Given the description of an element on the screen output the (x, y) to click on. 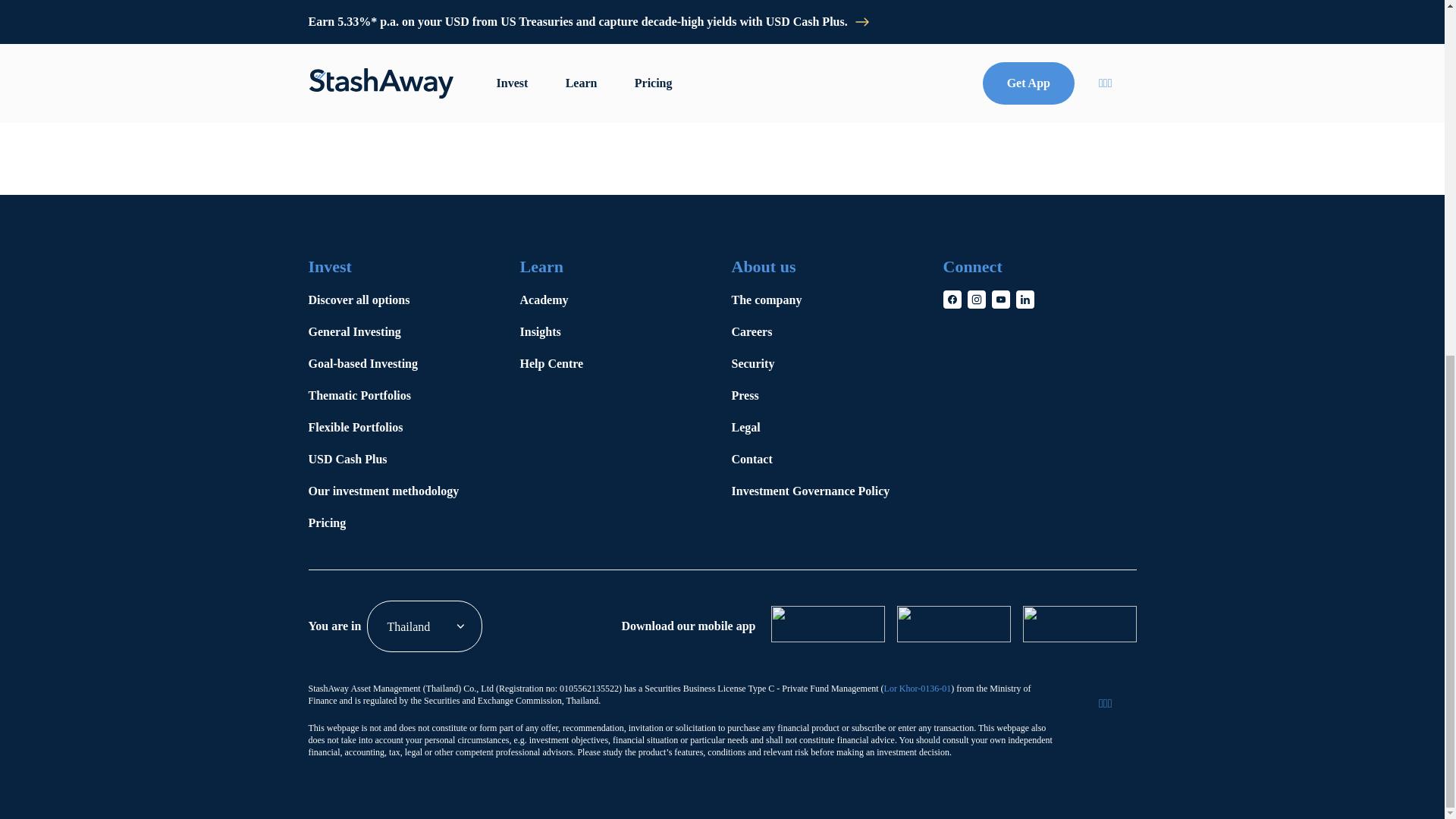
The company (824, 300)
Pricing (400, 522)
Press (824, 395)
USD Cash Plus (400, 459)
Discover all options (400, 300)
General Investing (400, 332)
Flexible Portfolios (400, 427)
Contact (824, 459)
Legal (824, 427)
Security (824, 364)
Help Centre (613, 364)
Goal-based Investing (400, 364)
Thematic Portfolios (400, 395)
Insights (613, 332)
Careers (824, 332)
